Given the description of an element on the screen output the (x, y) to click on. 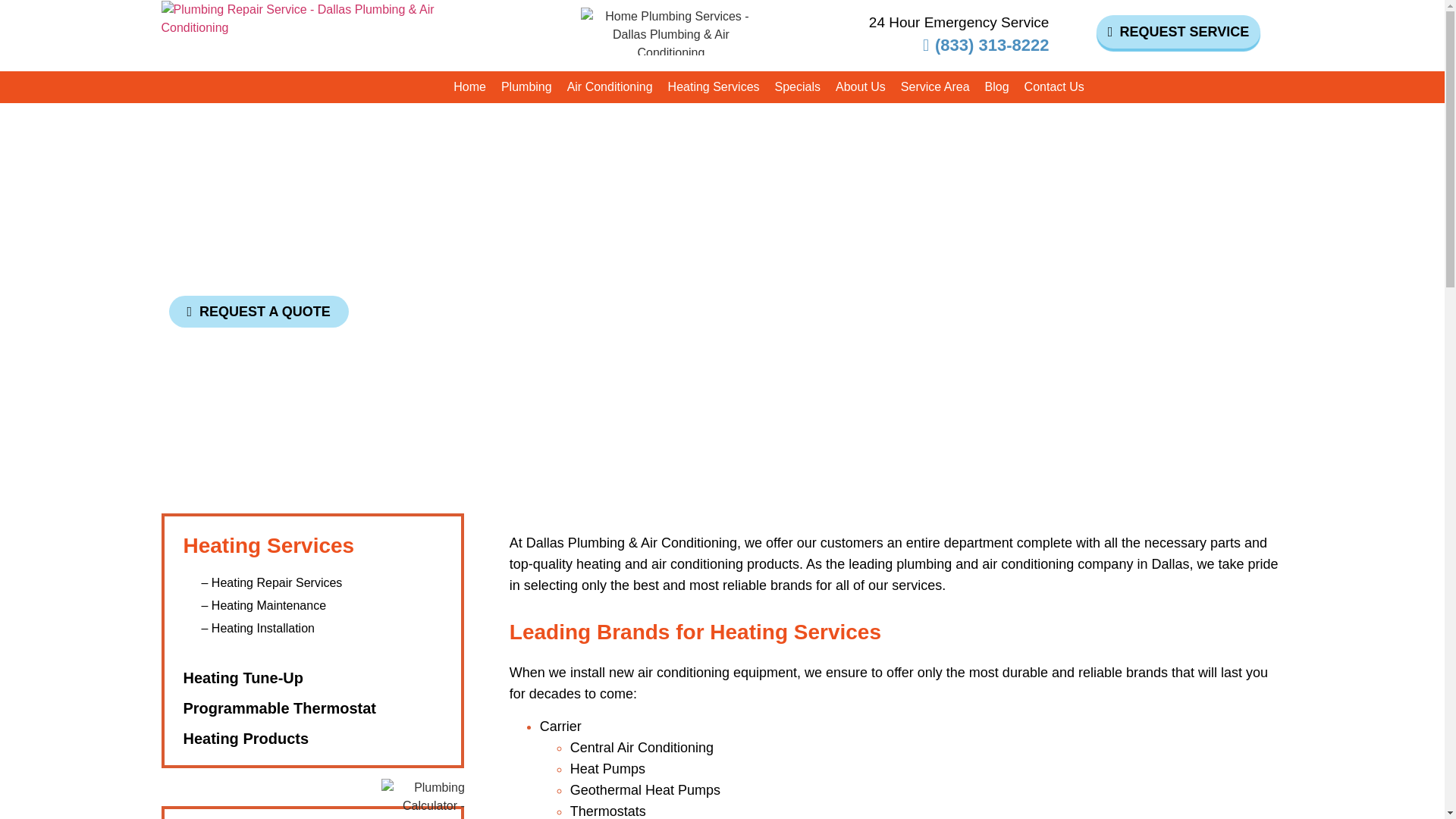
Specials (797, 86)
Blog (996, 86)
Plumbing (526, 86)
Contact Us (1054, 86)
Air Conditioning (610, 86)
Heating Services (714, 86)
REQUEST SERVICE (1178, 31)
About Us (860, 86)
Service Area (934, 86)
Home (469, 86)
